Given the description of an element on the screen output the (x, y) to click on. 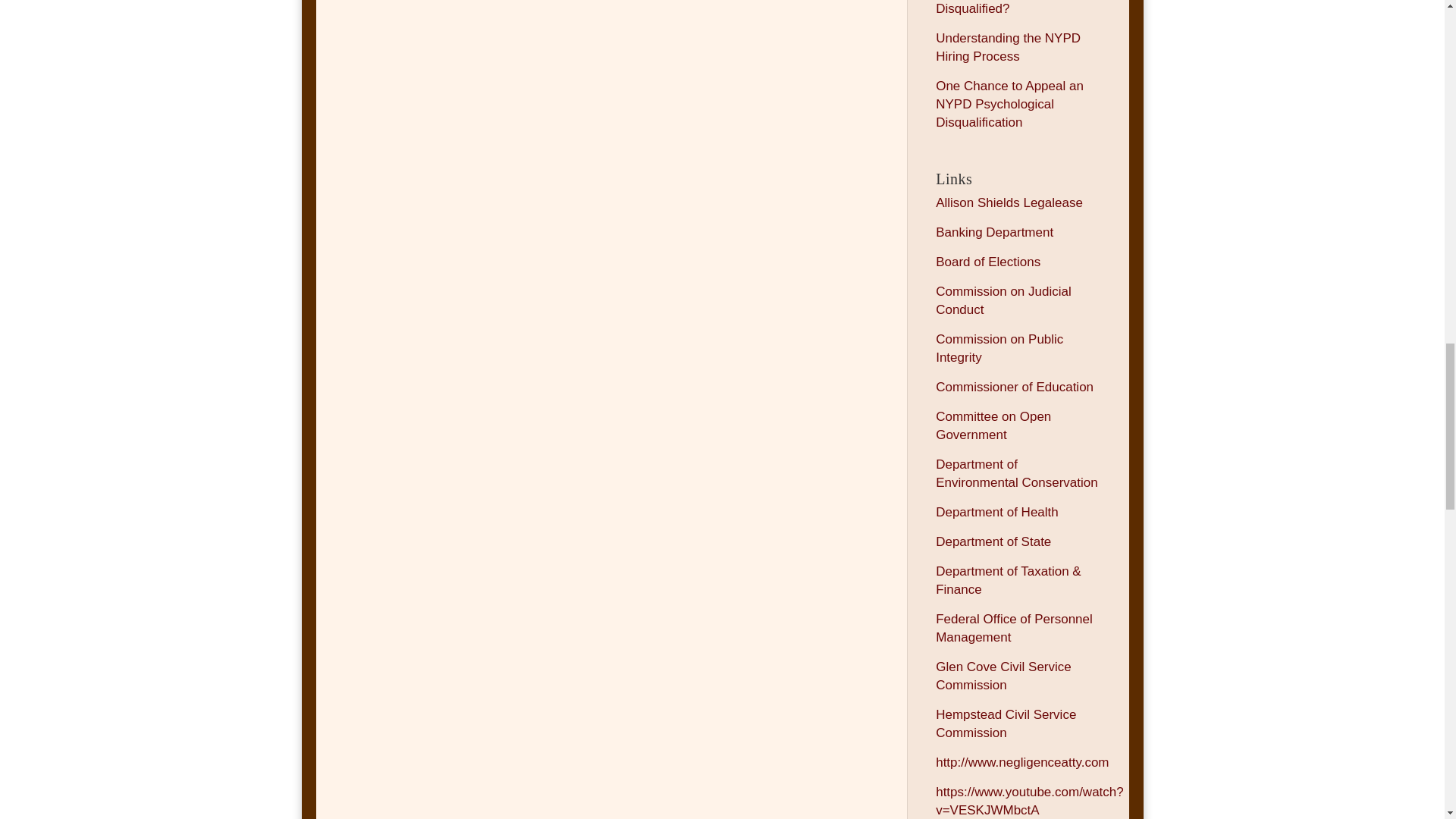
Understanding the NYPD Hiring Process (1008, 47)
Why Was I Psychologically Disqualified? (1012, 7)
One Chance to Appeal an NYPD Psychological Disqualification (1009, 103)
Federal Office of Personnel Management (1014, 627)
Banking Department (994, 232)
Glen Cove Civil Service Commission (1003, 676)
Hempstead Civil Service Commission information (1005, 723)
Allison Shields Legalease (1009, 202)
